Given the description of an element on the screen output the (x, y) to click on. 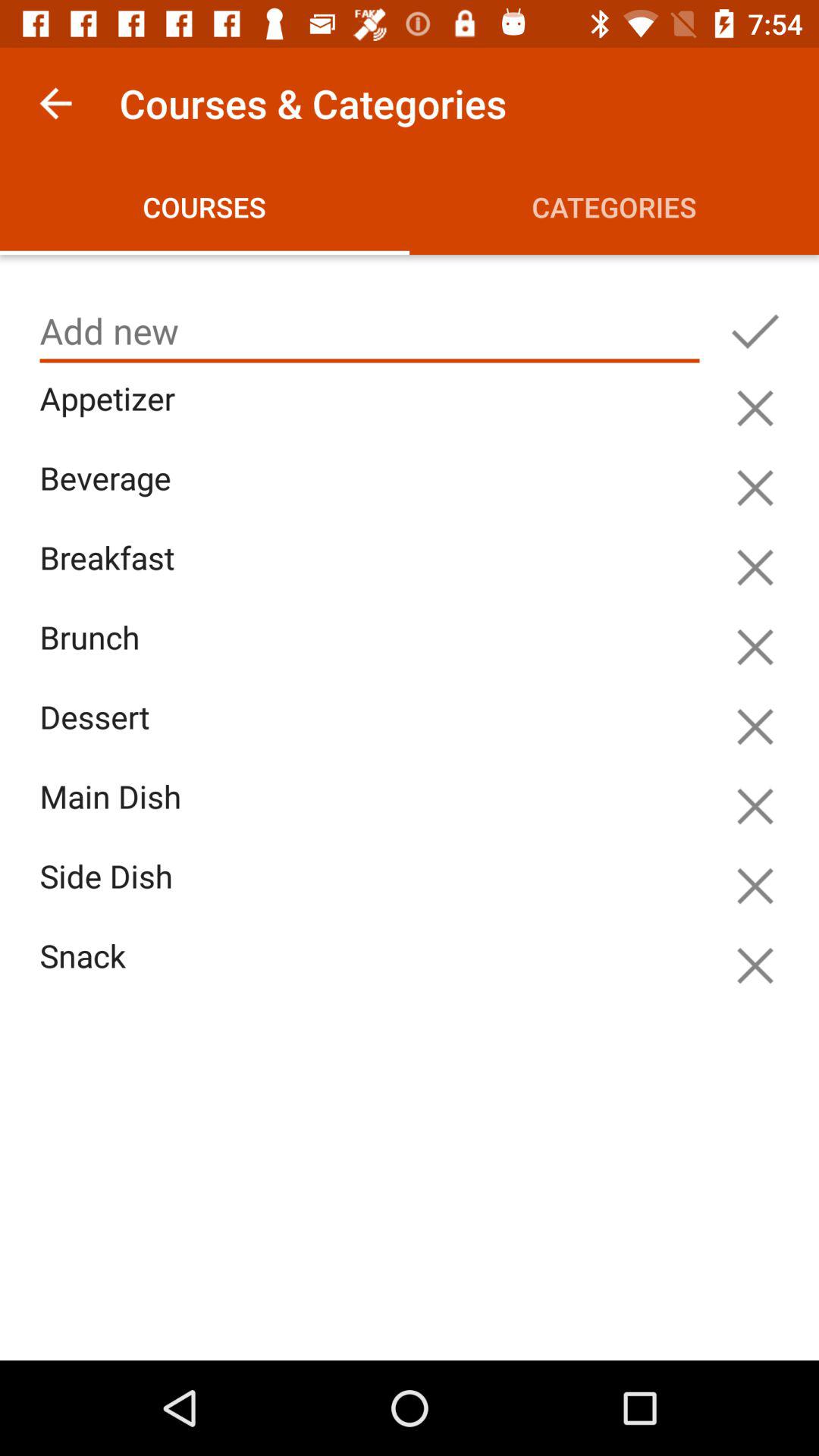
add new text (755, 331)
